Given the description of an element on the screen output the (x, y) to click on. 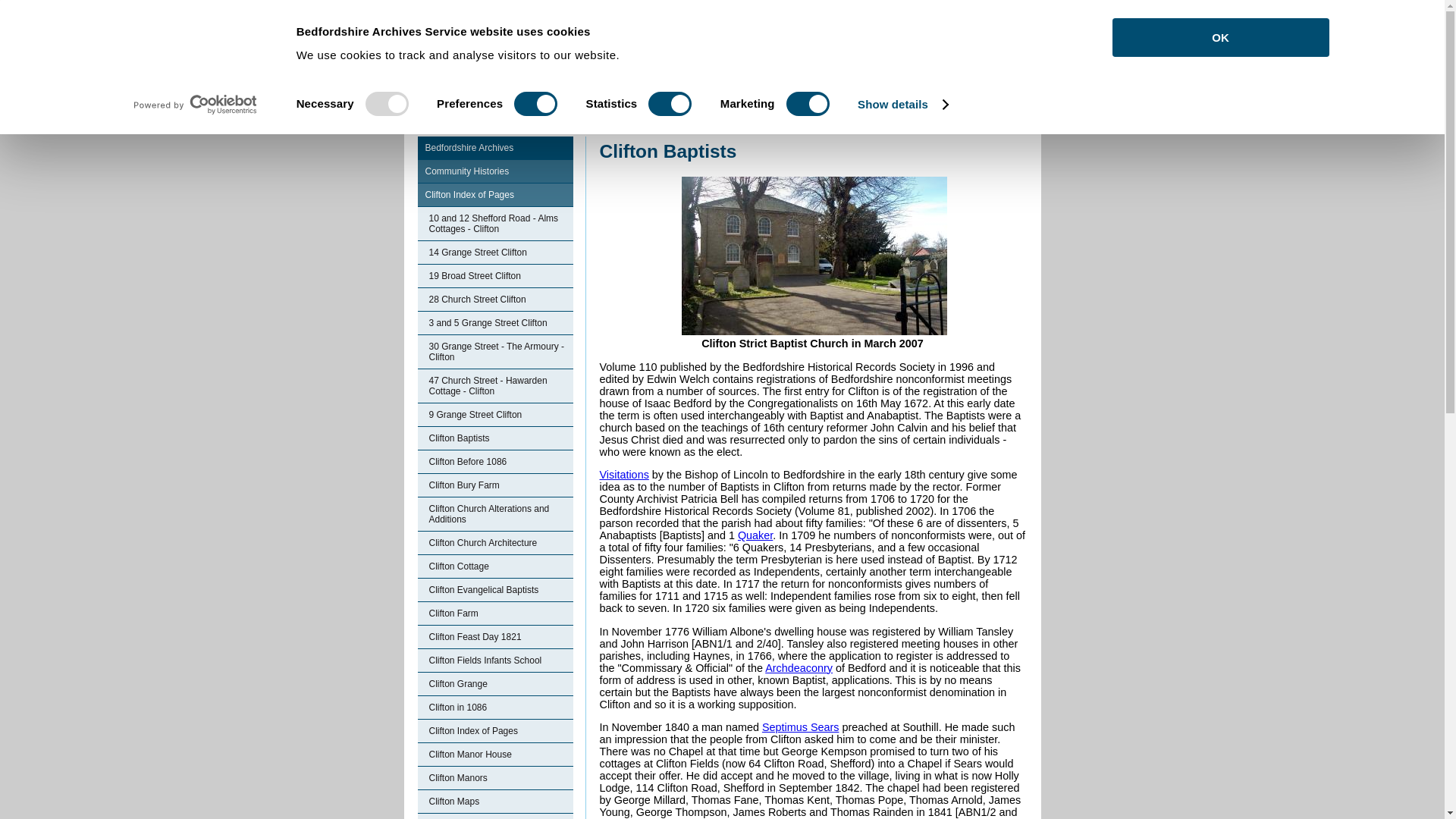
Clifton (727, 128)
Enter Keywords (902, 23)
Go to Clifton from here (727, 128)
19 Broad Street Clifton (494, 275)
Clifton Index of Pages (494, 195)
Show details (902, 104)
OK (1219, 37)
Bedfordshire Archives (494, 147)
Home (432, 22)
Cookies (476, 22)
